Given the description of an element on the screen output the (x, y) to click on. 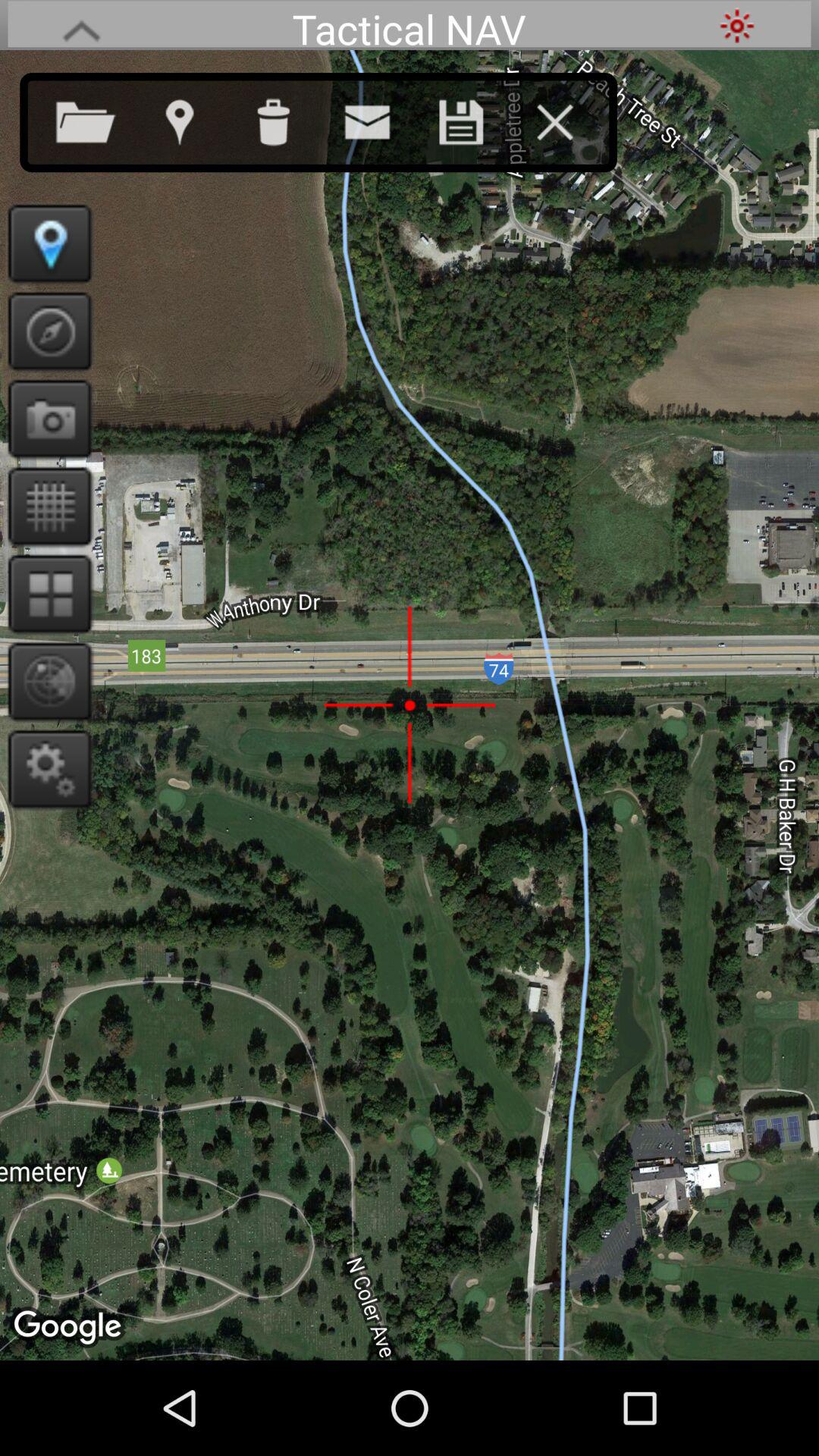
save (476, 119)
